Given the description of an element on the screen output the (x, y) to click on. 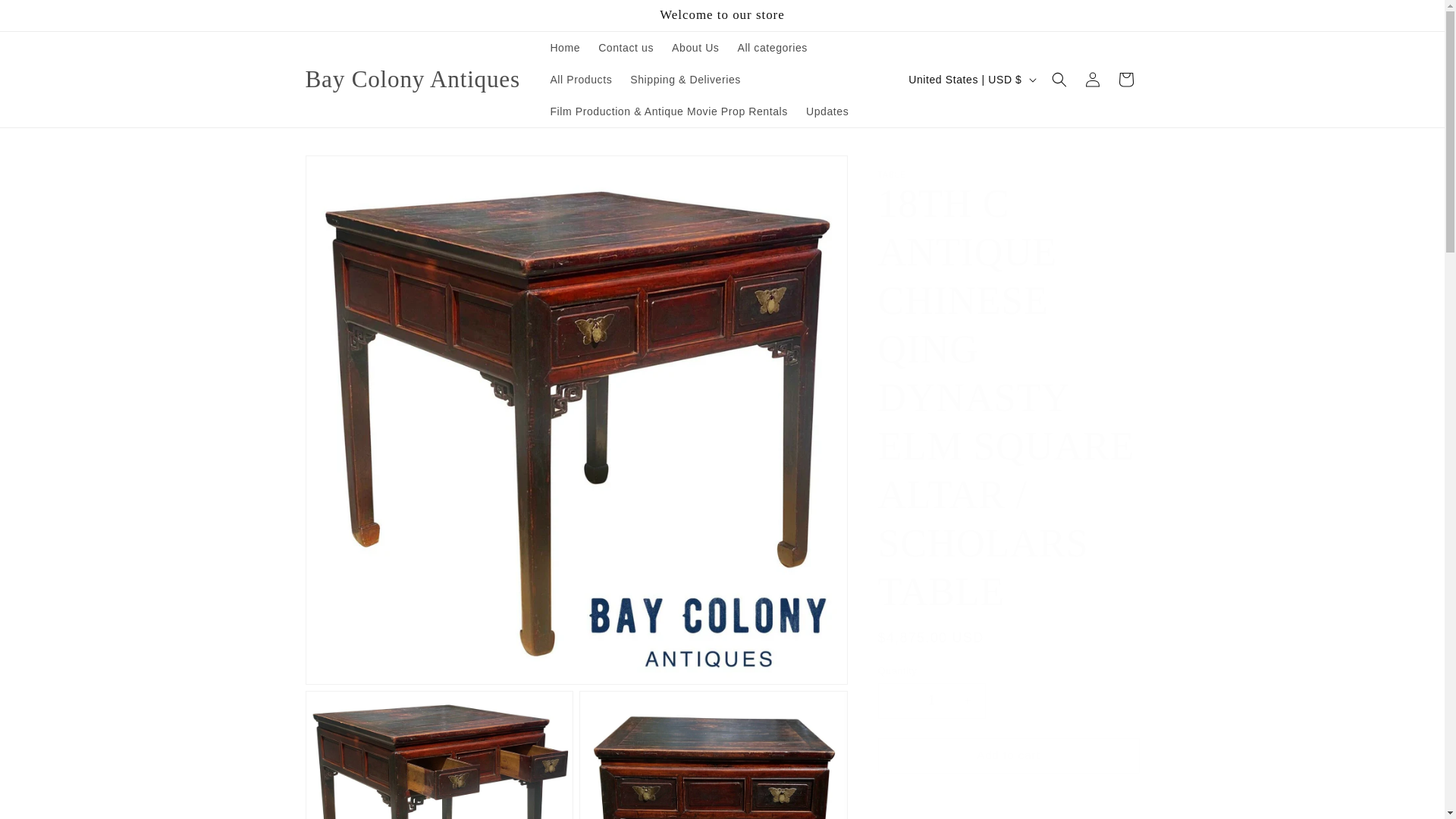
All categories (771, 47)
Home (564, 47)
Skip to content (45, 17)
All Products (580, 79)
1 (931, 701)
About Us (695, 47)
Updates (826, 111)
Open media 2 in modal (438, 755)
Contact us (625, 47)
Log in (1091, 79)
